Given the description of an element on the screen output the (x, y) to click on. 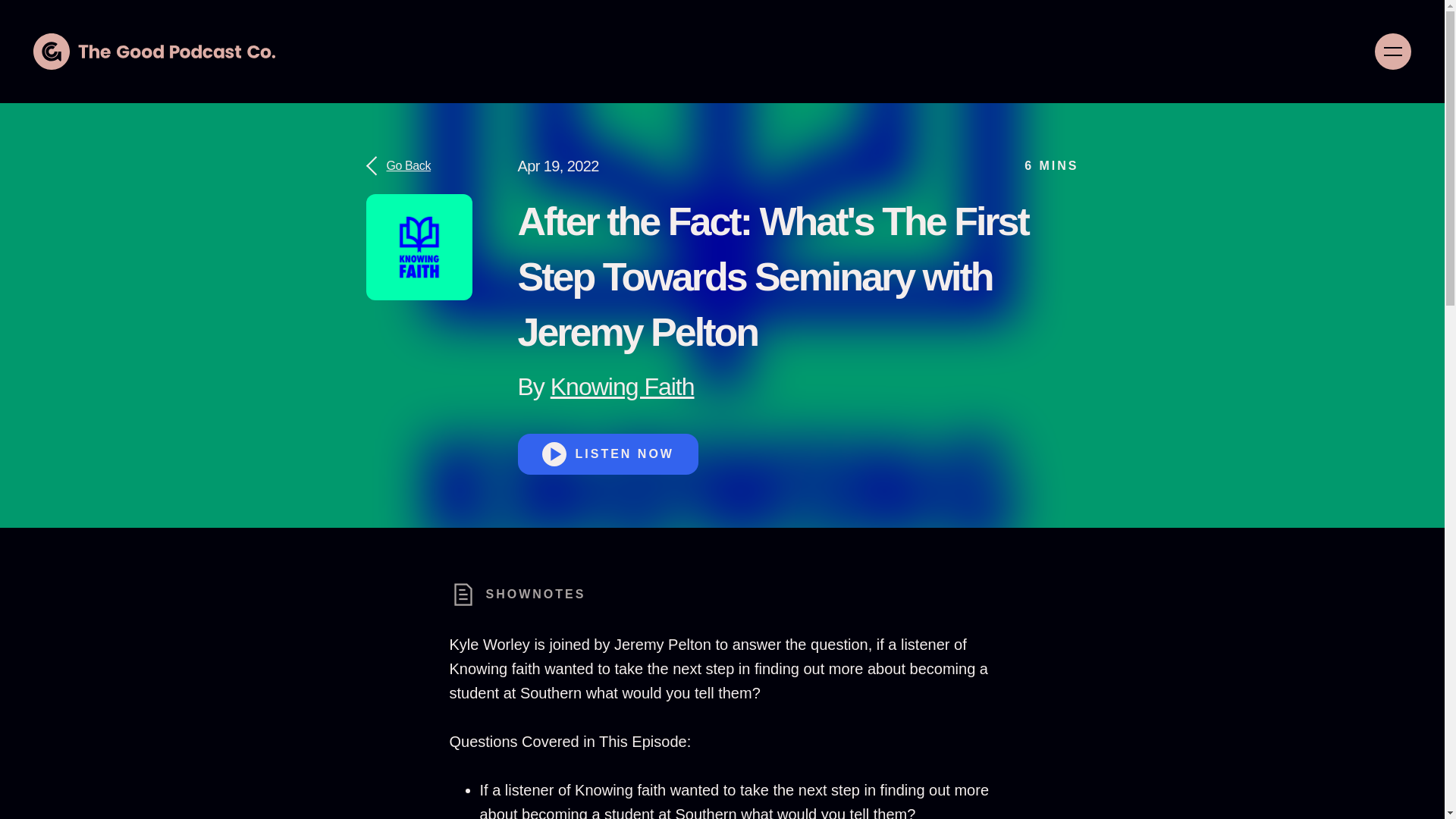
Knowing Faith (622, 386)
LISTEN NOW (606, 454)
Go Back (418, 166)
